Given the description of an element on the screen output the (x, y) to click on. 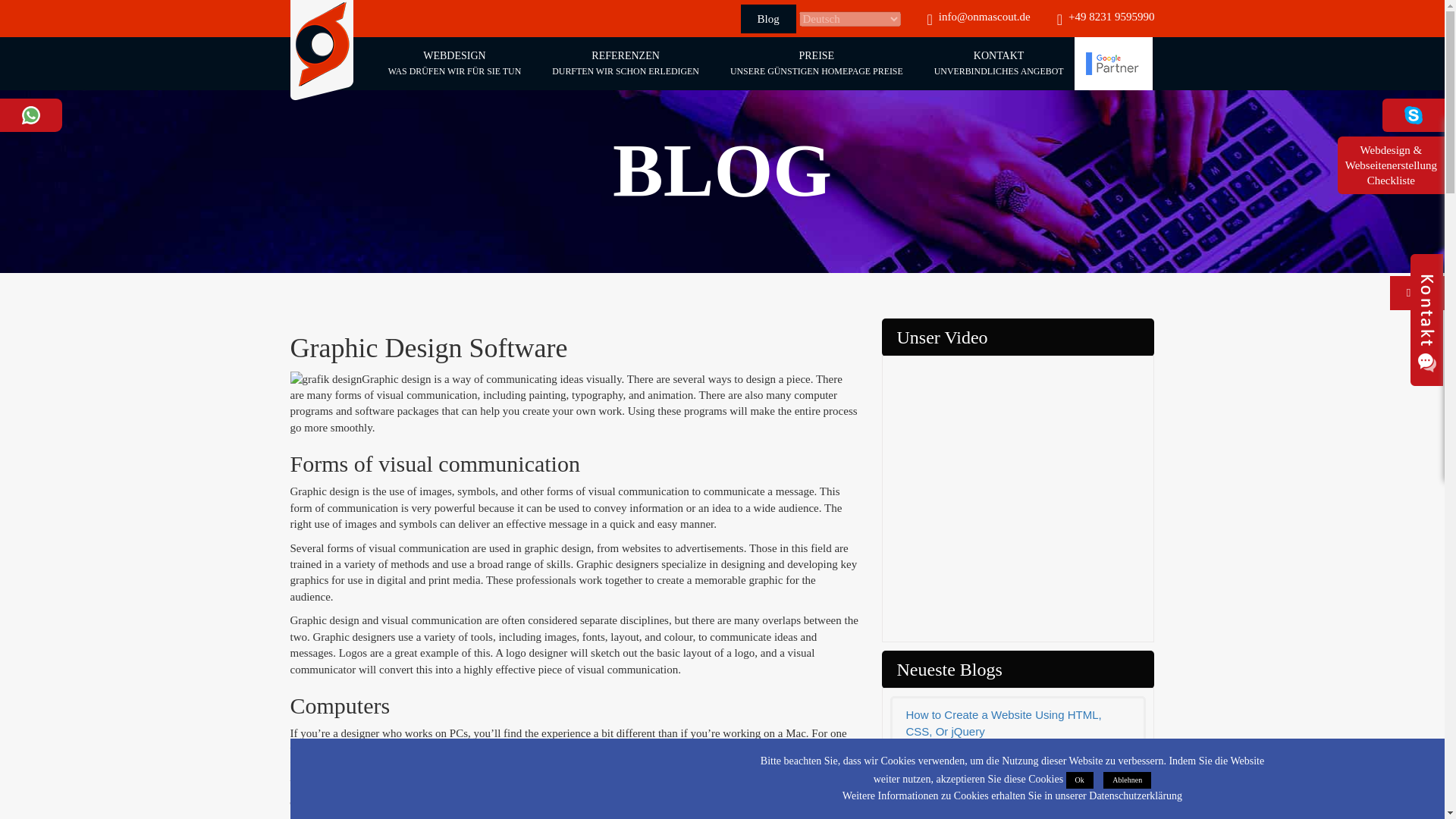
How to Create a Website Using HTML, CSS, Or jQuery (1018, 722)
Google Partner (998, 63)
Ablehnen (1113, 63)
9 Key Elements of Corporate Design (625, 63)
Homepage Design for Music Websites (1123, 777)
Blog (625, 63)
Ok (1018, 809)
Ablehnen (1018, 773)
